Given the description of an element on the screen output the (x, y) to click on. 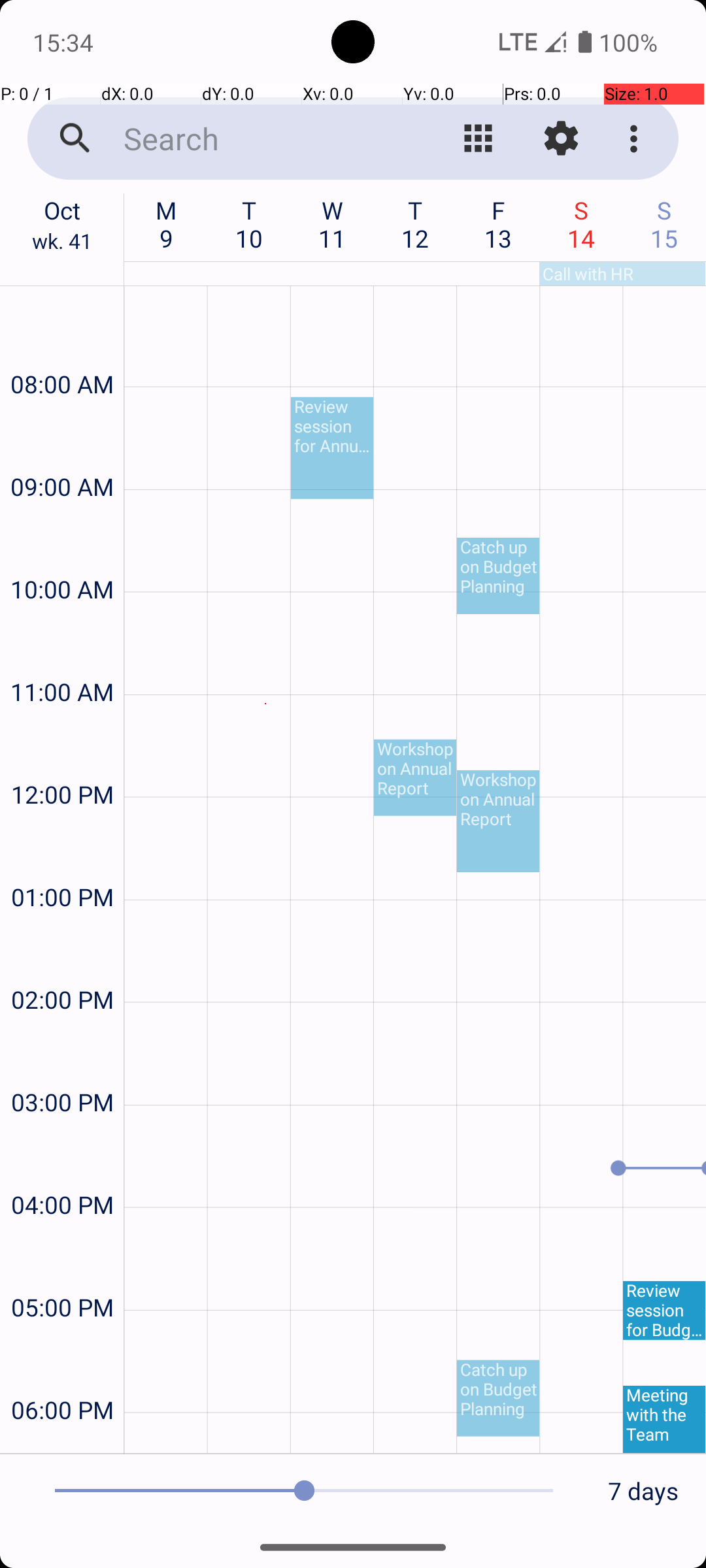
08:00 AM Element type: android.widget.TextView (62, 348)
09:00 AM Element type: android.widget.TextView (62, 451)
10:00 AM Element type: android.widget.TextView (62, 554)
11:00 AM Element type: android.widget.TextView (62, 656)
12:00 PM Element type: android.widget.TextView (62, 759)
01:00 PM Element type: android.widget.TextView (62, 861)
02:00 PM Element type: android.widget.TextView (62, 964)
03:00 PM Element type: android.widget.TextView (62, 1066)
04:00 PM Element type: android.widget.TextView (62, 1169)
05:00 PM Element type: android.widget.TextView (62, 1272)
06:00 PM Element type: android.widget.TextView (62, 1374)
07:00 PM Element type: android.widget.TextView (62, 1440)
